Given the description of an element on the screen output the (x, y) to click on. 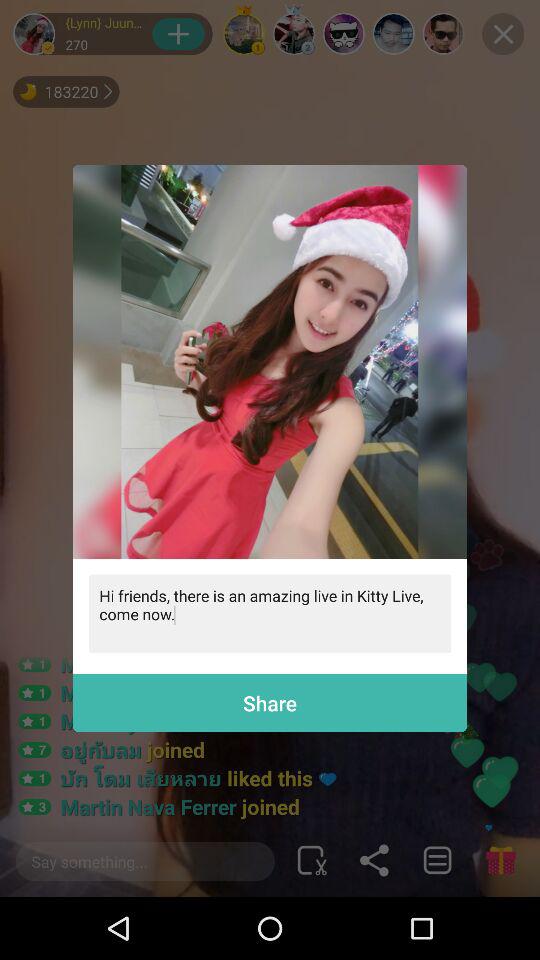
view this live video (269, 361)
